Given the description of an element on the screen output the (x, y) to click on. 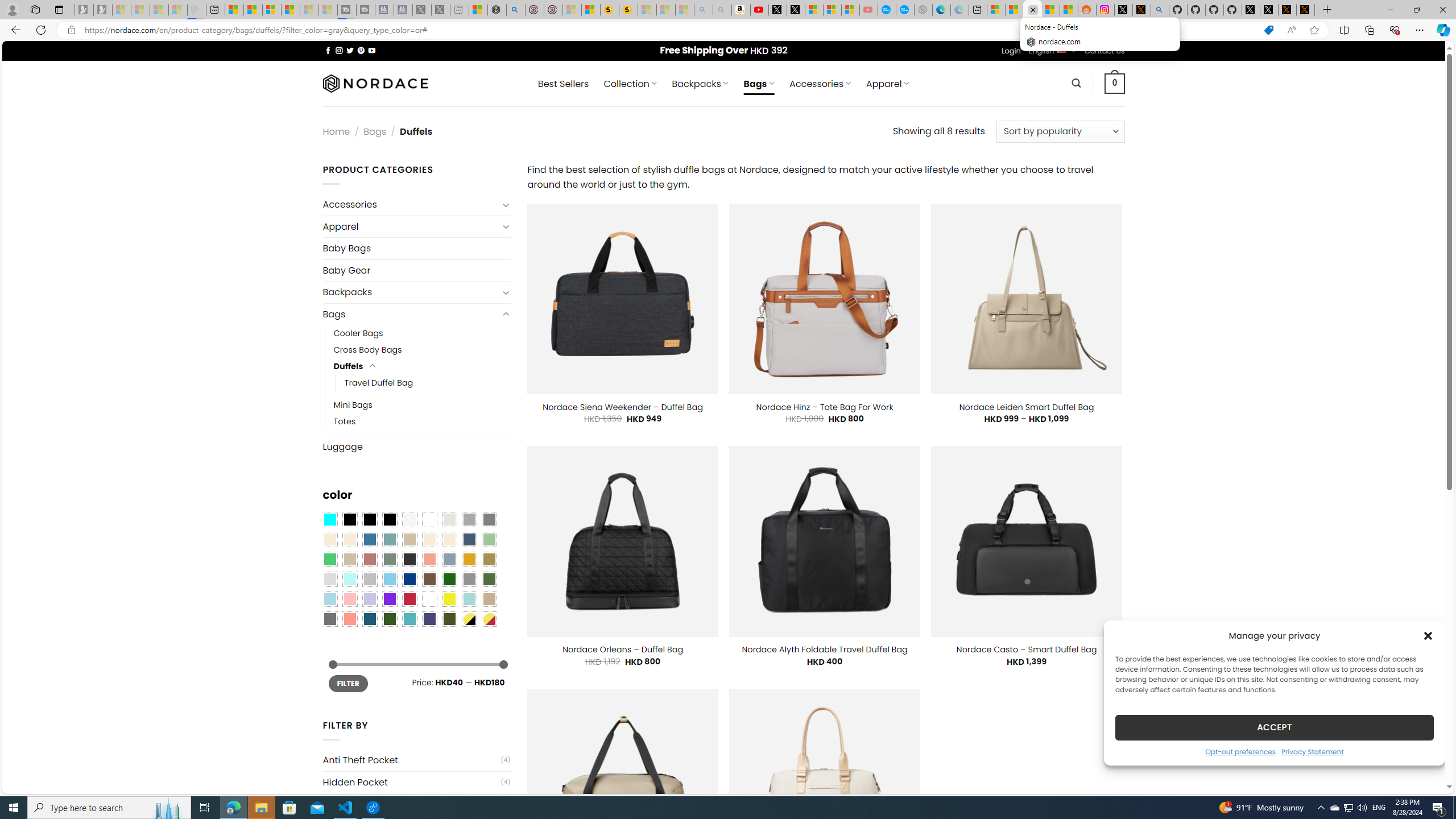
Travel Duffel Bag (427, 382)
Newsletter Sign Up - Sleeping (102, 9)
ACCEPT (1274, 727)
Beige-Brown (349, 539)
Pink (349, 599)
Teal (408, 618)
Green (488, 579)
Light Purple (369, 599)
Anti Theft Pocket(4) (416, 760)
Cooler Bags (422, 333)
